Given the description of an element on the screen output the (x, y) to click on. 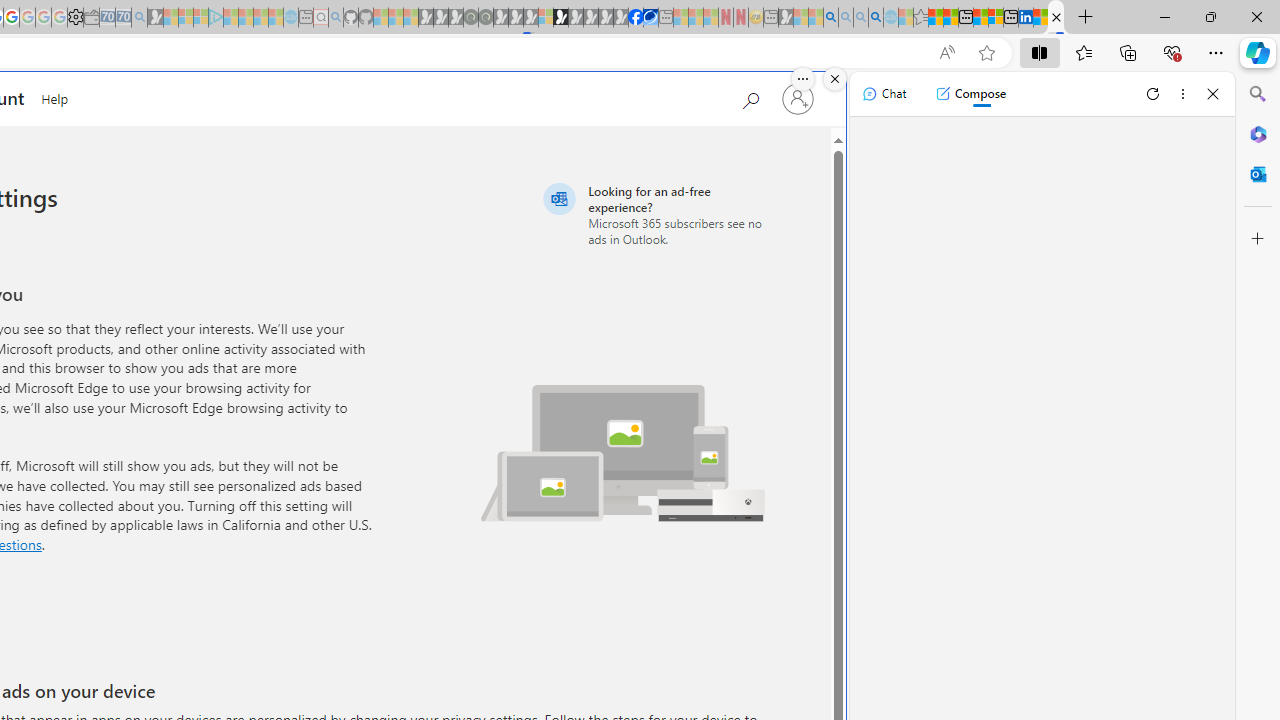
Favorites - Sleeping (920, 17)
Close split screen. (835, 79)
Looking for an ad-free experience? (656, 214)
Close Customize pane (1258, 239)
